Given the description of an element on the screen output the (x, y) to click on. 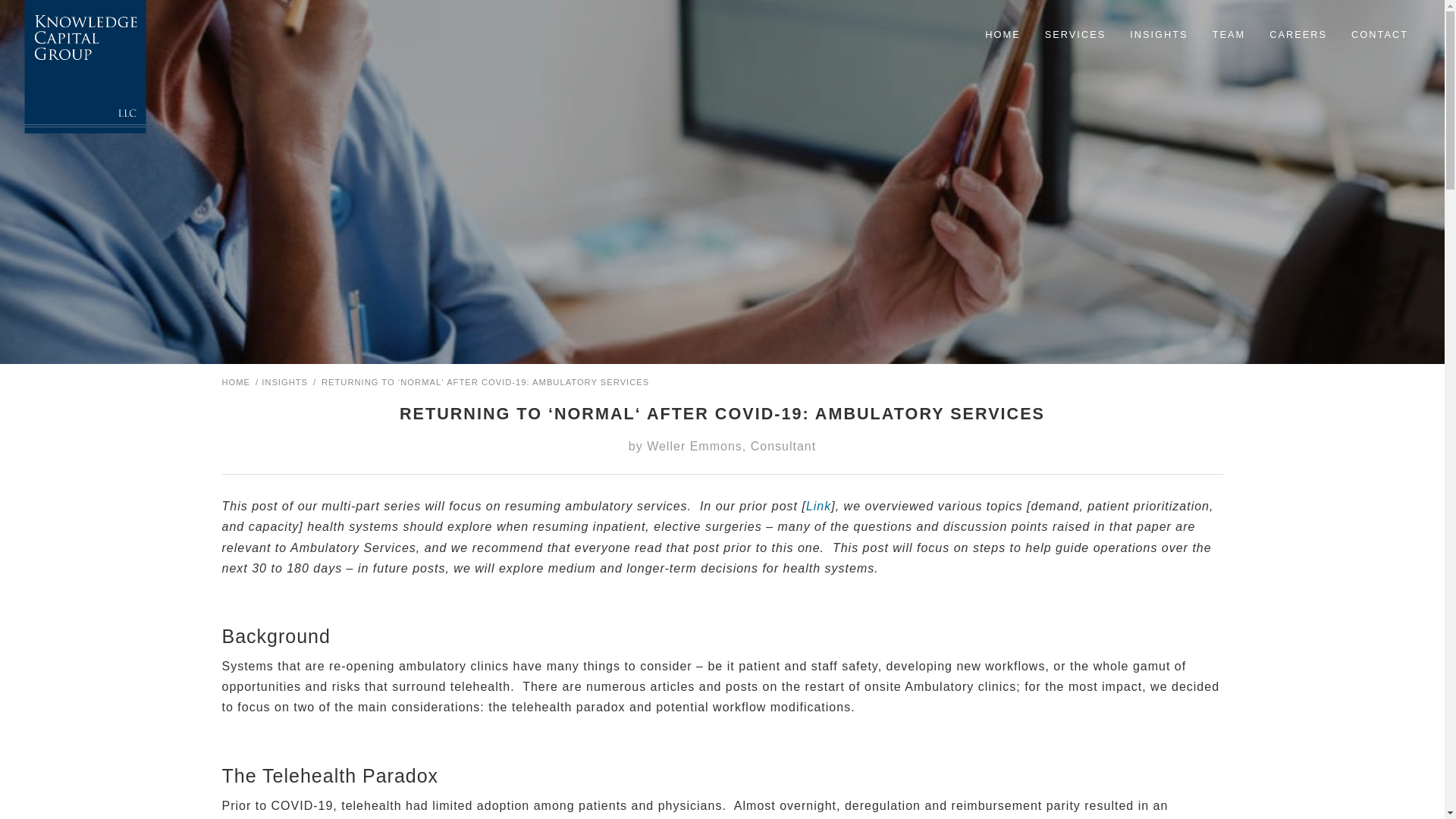
HOME (235, 381)
SERVICES (1075, 35)
CONTACT (1380, 35)
INSIGHTS (1158, 35)
INSIGHTS (284, 381)
Home (235, 381)
CAREERS (1298, 35)
Link (818, 505)
